Given the description of an element on the screen output the (x, y) to click on. 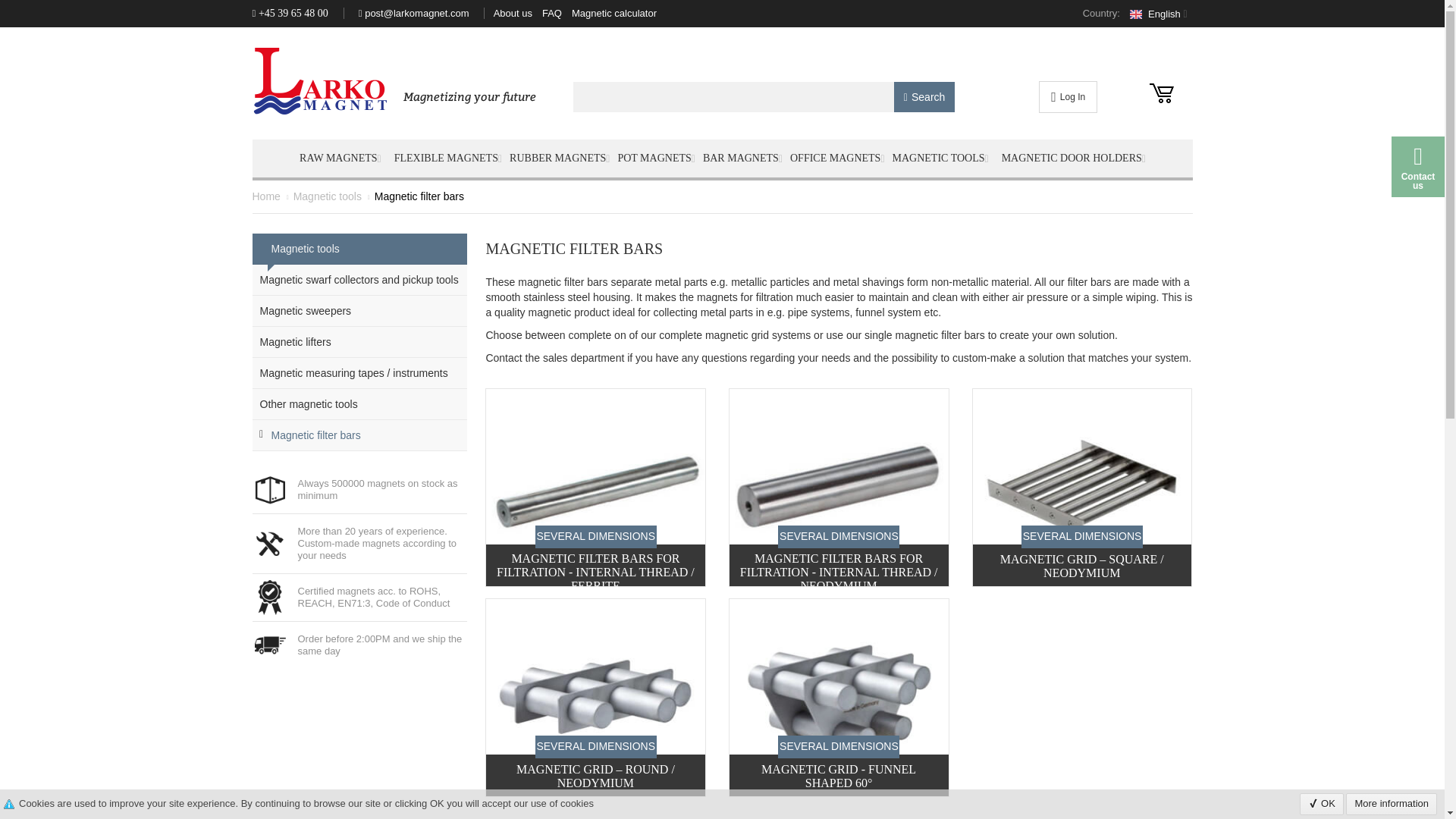
About Larko Magnet (512, 13)
Larko Magnet (394, 79)
FAQ (552, 13)
FAQ (552, 13)
Raw magnets (339, 158)
Log In (1067, 96)
Magnetic calculator (614, 13)
Magnetic calculator (614, 13)
Search (924, 96)
About us (512, 13)
